Given the description of an element on the screen output the (x, y) to click on. 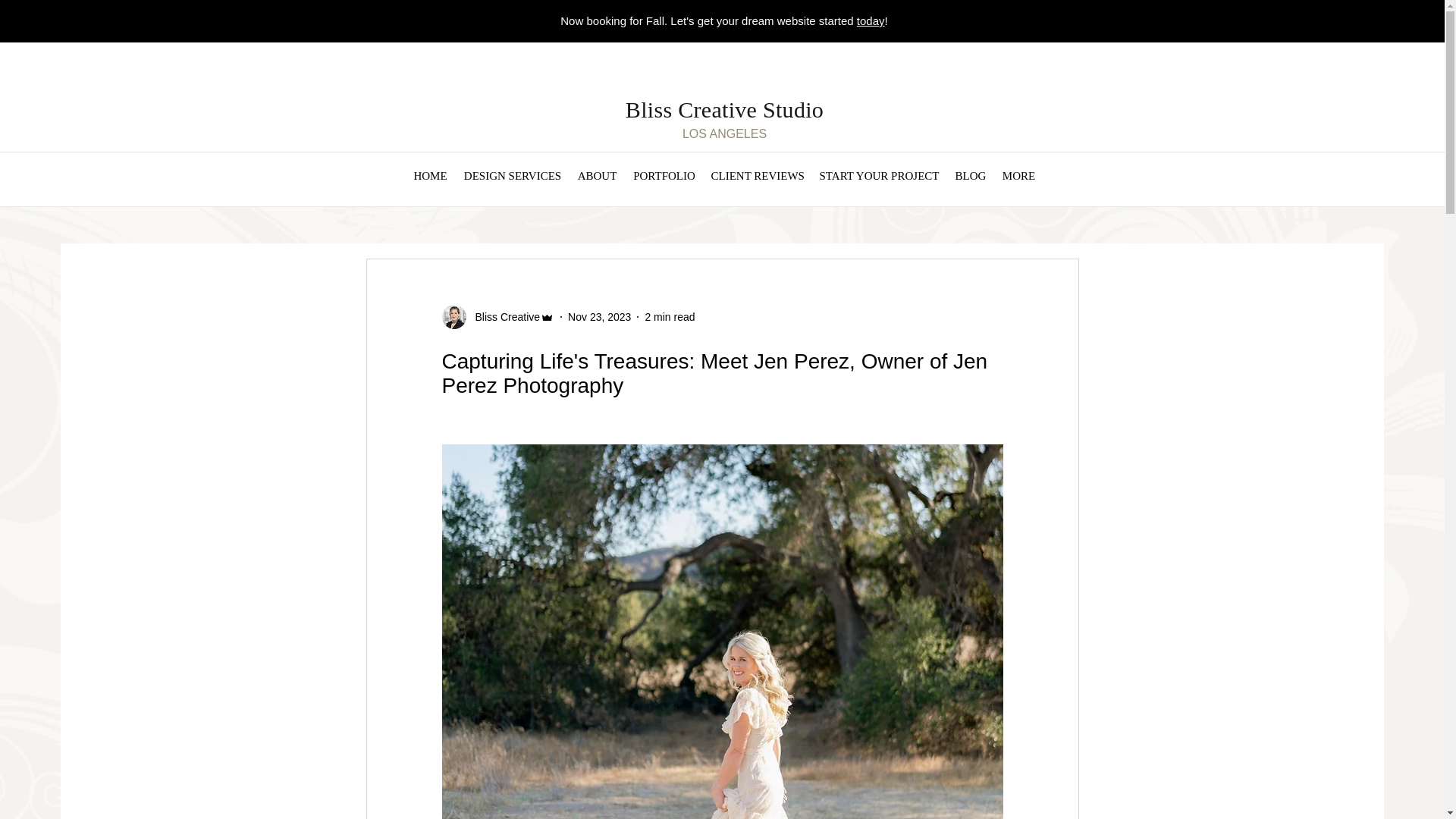
PORTFOLIO (663, 175)
BLOG (970, 175)
HOME (430, 175)
2 min read (669, 316)
Bliss Creative (502, 317)
ABOUT (596, 175)
CLIENT REVIEWS (756, 175)
today (871, 20)
START YOUR PROJECT (878, 175)
Nov 23, 2023 (598, 316)
